Given the description of an element on the screen output the (x, y) to click on. 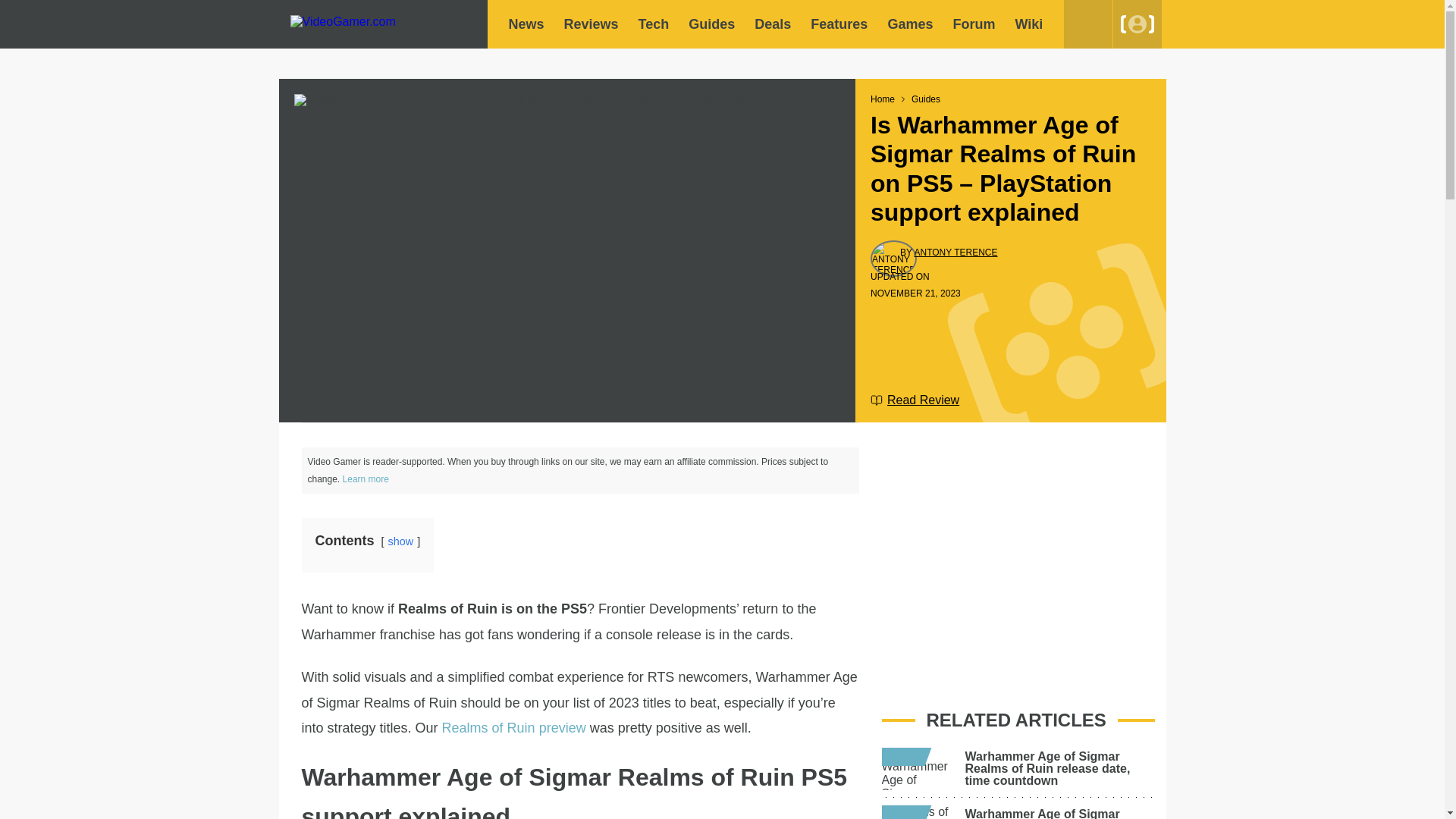
Guides (711, 24)
Reviews (591, 24)
Games (909, 24)
Tech (653, 24)
Realms of Ruin preview (514, 727)
Read Review (914, 400)
Guides (711, 24)
Reviews (591, 24)
Features (838, 24)
Games (909, 24)
Learn more (365, 479)
Guides (925, 99)
Deals (772, 24)
Forum (973, 24)
Home (882, 99)
